Given the description of an element on the screen output the (x, y) to click on. 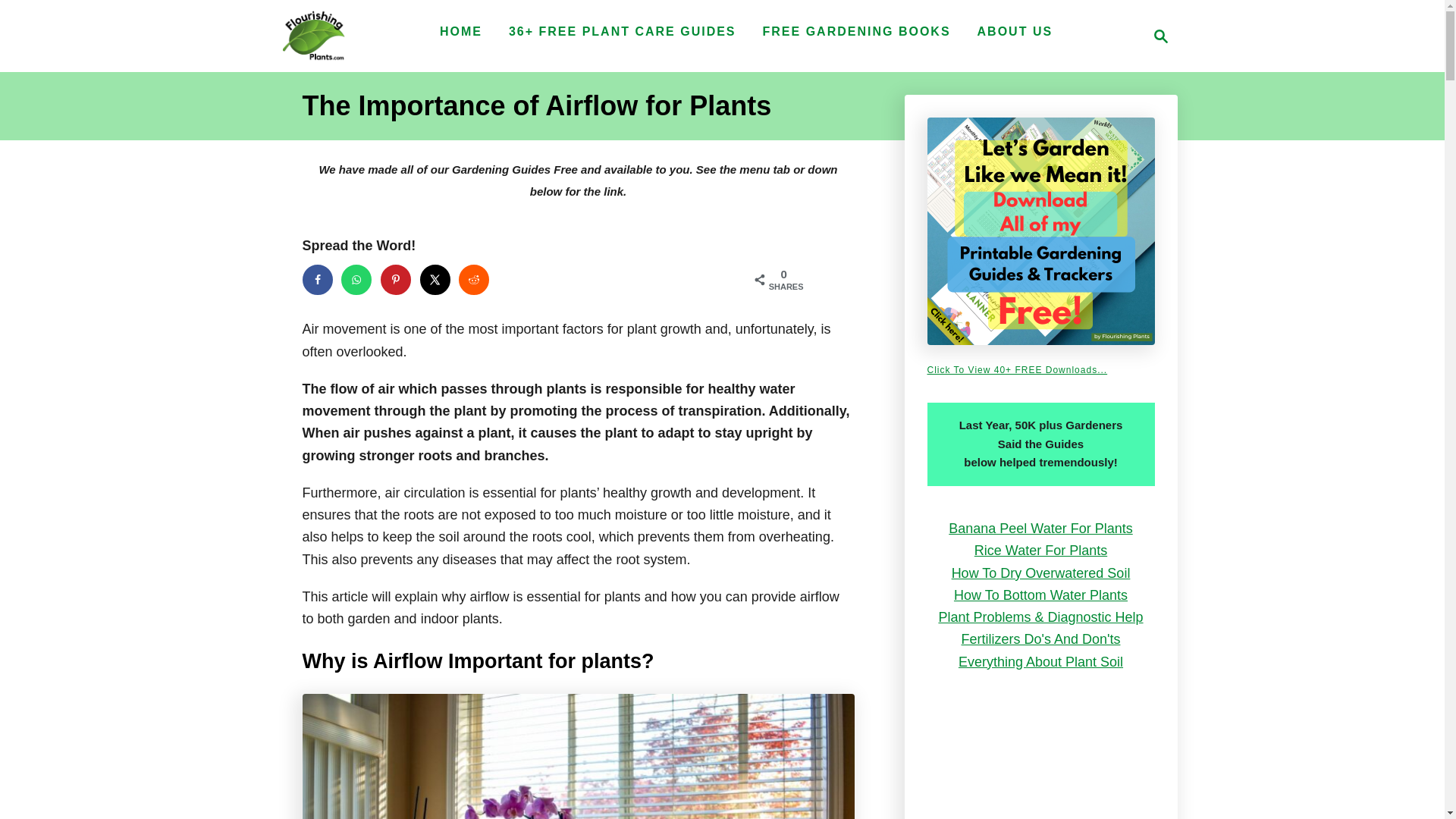
Share on X (434, 279)
FREE GARDENING BOOKS (856, 31)
Share on Facebook (316, 279)
Save to Pinterest (395, 279)
Share on WhatsApp (355, 279)
HOME (460, 31)
Share on Reddit (473, 279)
Flourishing Plants (312, 35)
ABOUT US (1015, 31)
Magnifying Glass (1160, 36)
